Given the description of an element on the screen output the (x, y) to click on. 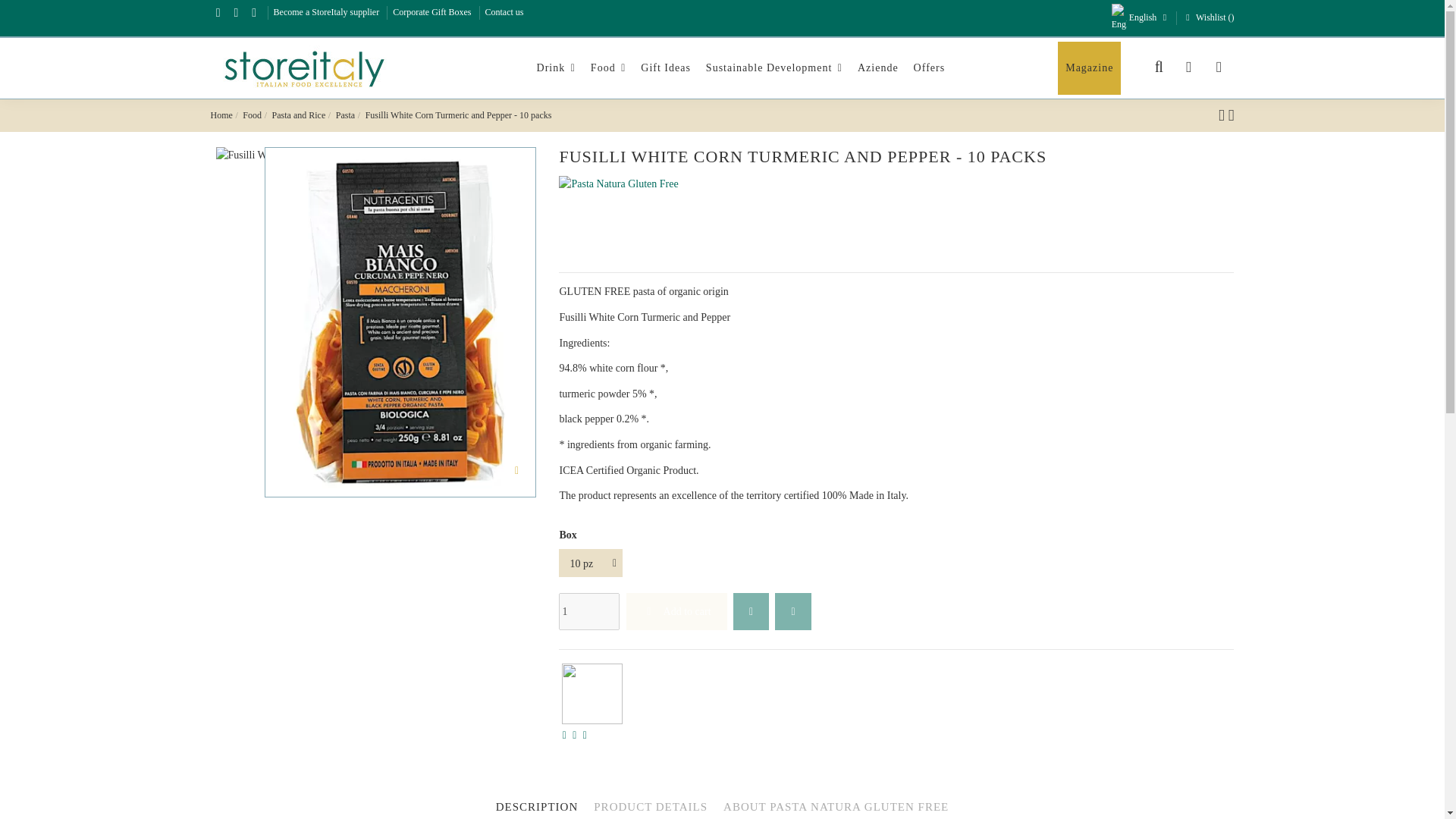
Bio (592, 693)
Log in to your customer account (1188, 67)
Use our form to contact us (504, 11)
Add to wishlist (750, 610)
1 (589, 610)
Contact us (504, 11)
Food (608, 68)
Add to compare (792, 610)
Drink (556, 68)
